Given the description of an element on the screen output the (x, y) to click on. 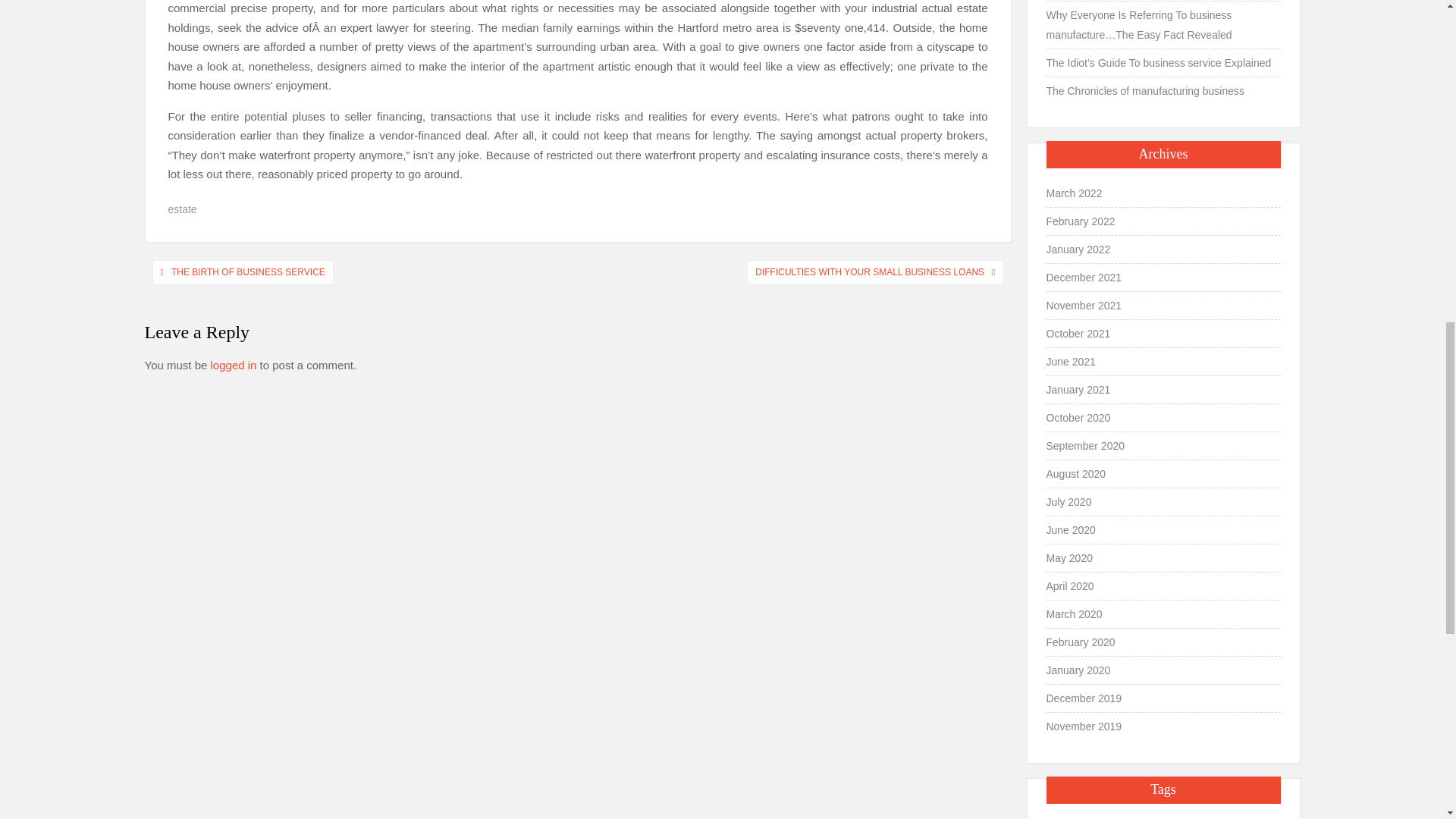
estate (182, 209)
DIFFICULTIES WITH YOUR SMALL BUSINESS LOANS (869, 272)
THE BIRTH OF BUSINESS SERVICE (248, 272)
